Given the description of an element on the screen output the (x, y) to click on. 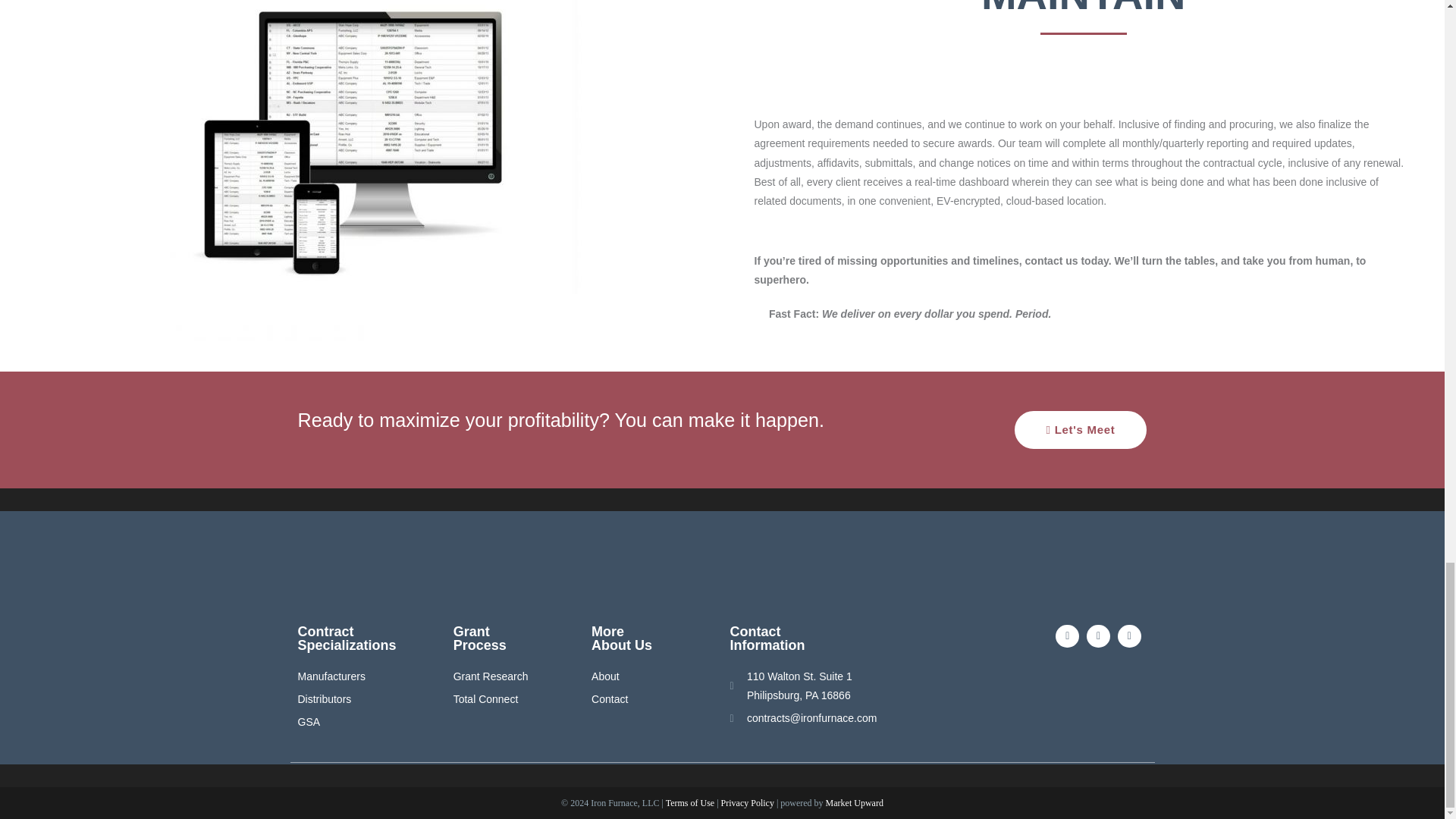
Manufacturers (367, 676)
About (652, 676)
GSA (367, 722)
Grant Research (505, 676)
Distributors (367, 699)
Let's Meet (1080, 429)
Total Connect (505, 699)
